Given the description of an element on the screen output the (x, y) to click on. 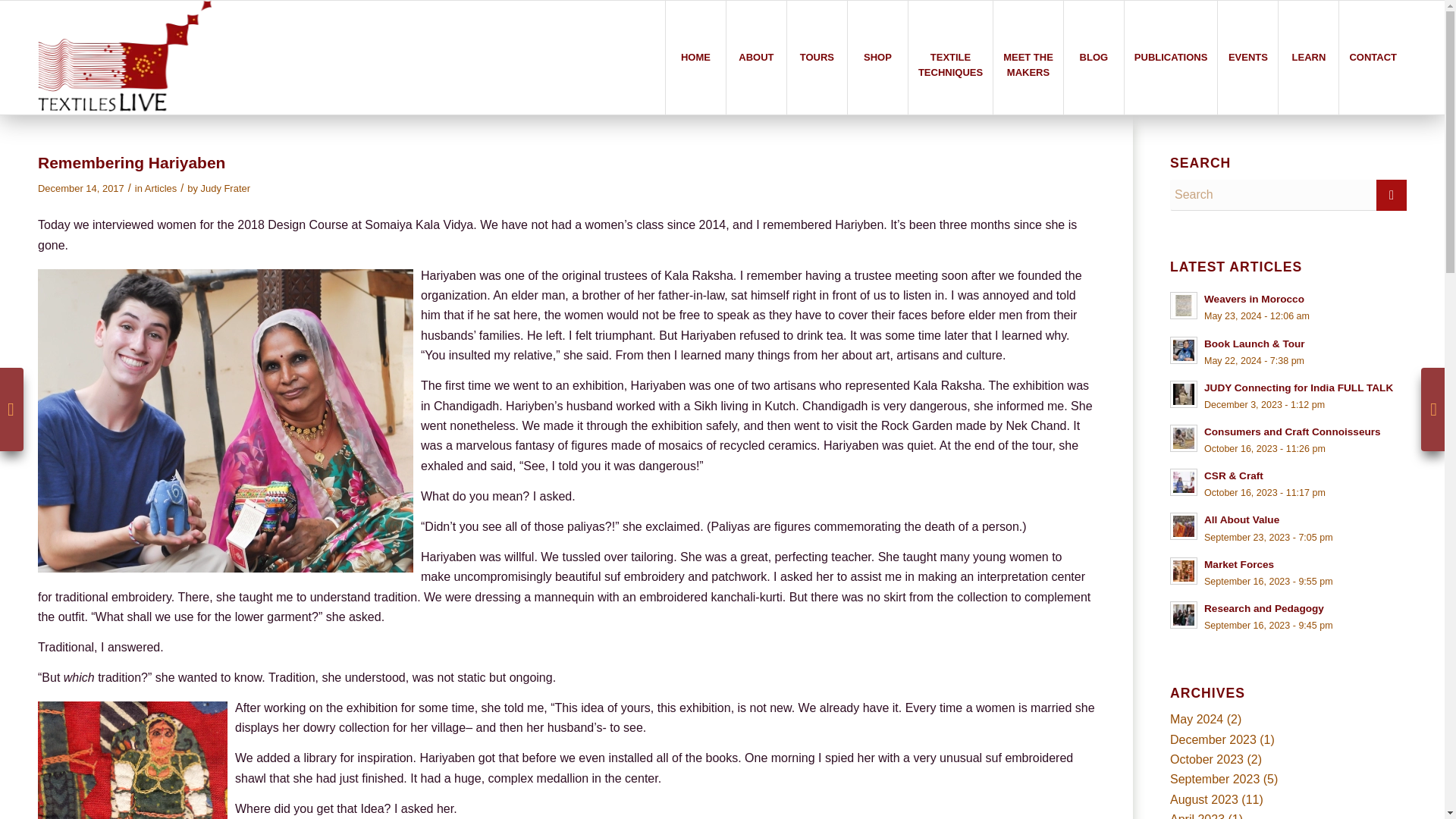
Posts by Judy Frater (225, 188)
Read: JUDY Connecting for India FULL TALK (1298, 387)
Weavers in Morocco (1254, 298)
Read: Consumers and Craft Connoisseurs (1292, 431)
Click to start search (1390, 194)
Read: Weavers in Morocco (1183, 305)
Read: Weavers in Morocco (1254, 298)
Judy Frater (225, 188)
Articles (160, 188)
Read: Consumers and Craft Connoisseurs (1183, 438)
Read: JUDY Connecting for India FULL TALK (1183, 393)
